Given the description of an element on the screen output the (x, y) to click on. 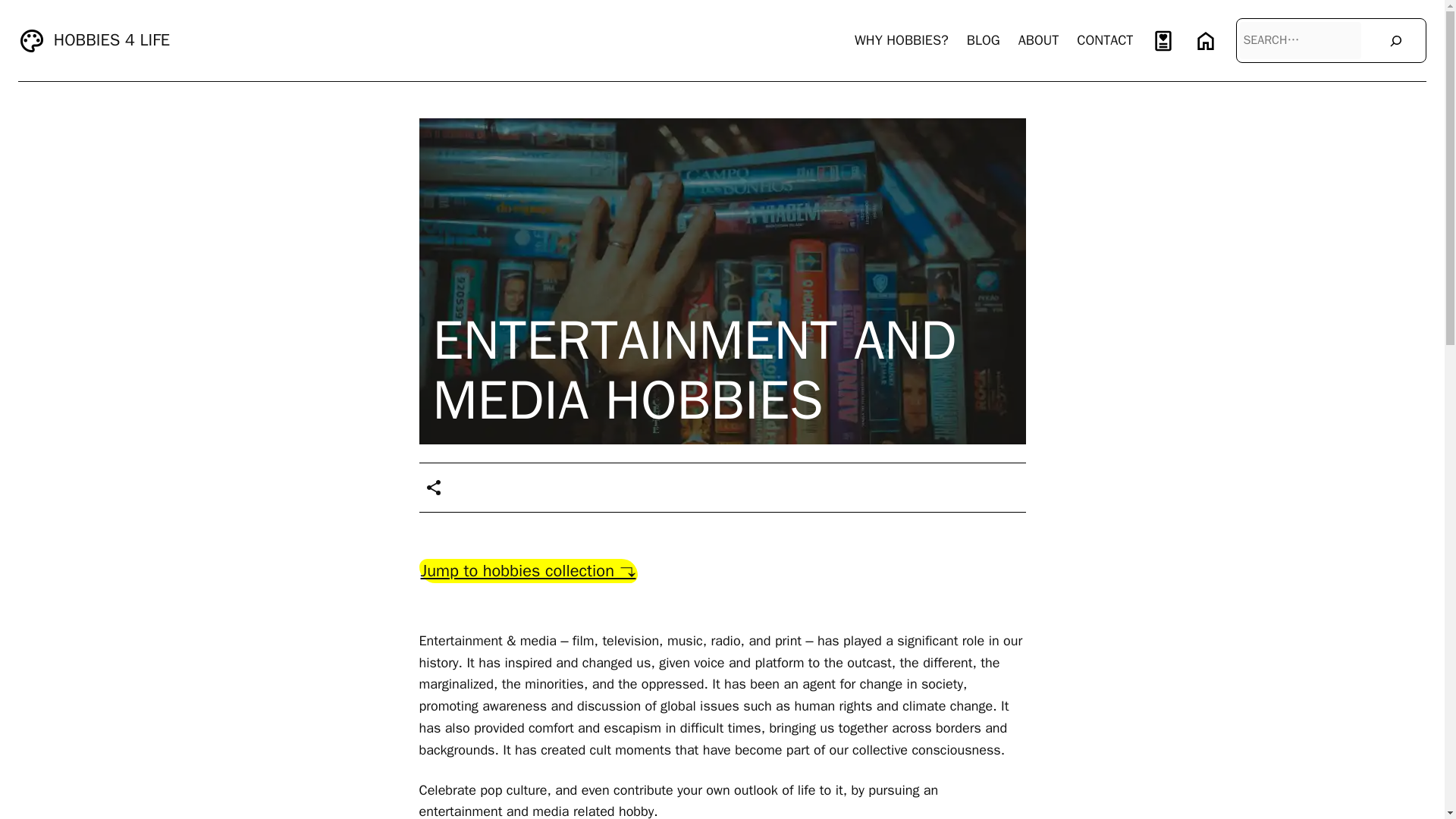
WHY HOBBIES? (901, 40)
HOBBIES 4 LIFE (111, 39)
ABOUT (1038, 40)
CONTACT (1104, 40)
BLOG (983, 40)
